Given the description of an element on the screen output the (x, y) to click on. 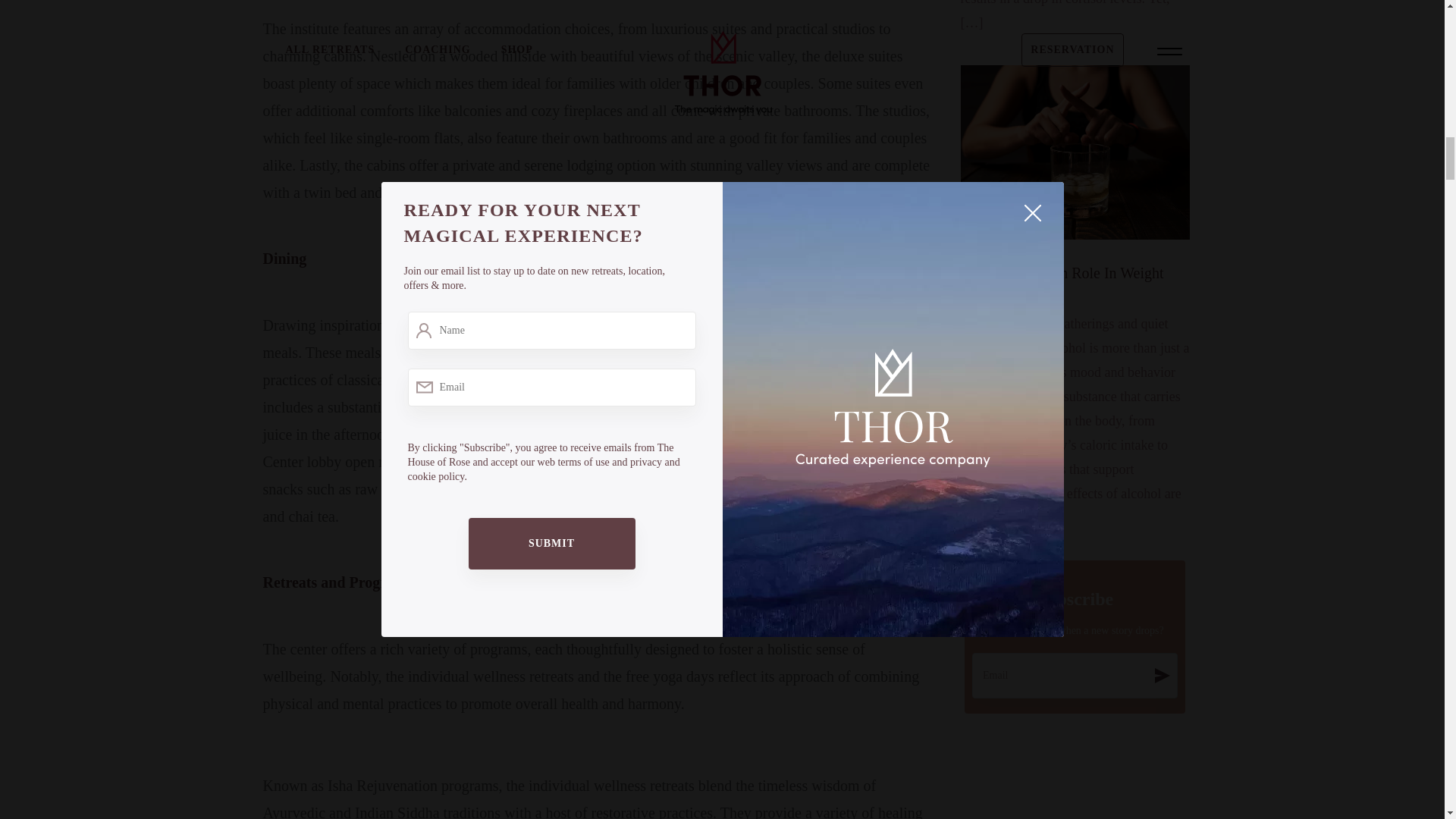
Sign up (1162, 675)
